Given the description of an element on the screen output the (x, y) to click on. 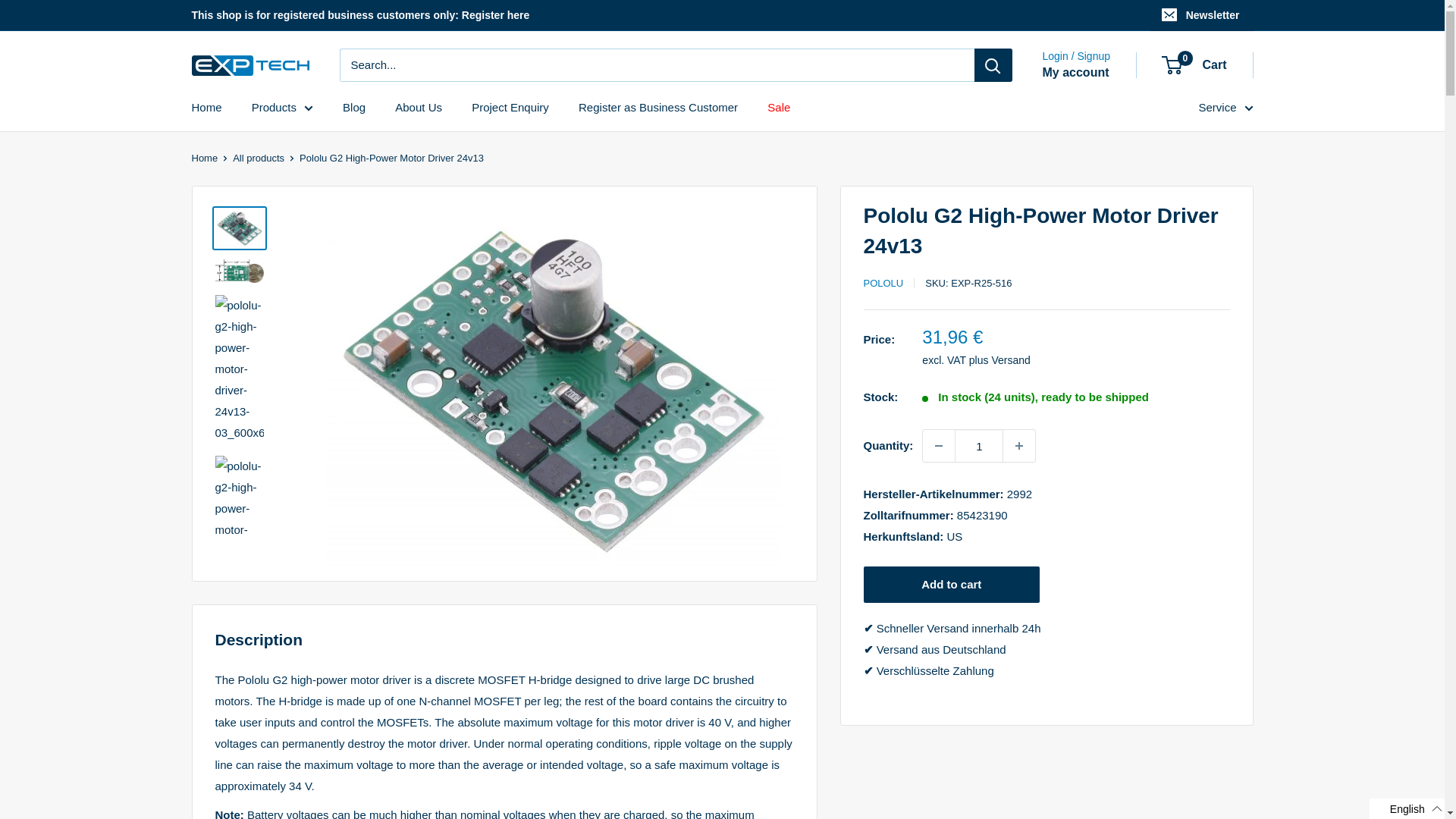
Increase quantity by 1 (1019, 445)
Decrease quantity by 1 (939, 445)
1 (979, 445)
Newsletter (1201, 15)
